Given the description of an element on the screen output the (x, y) to click on. 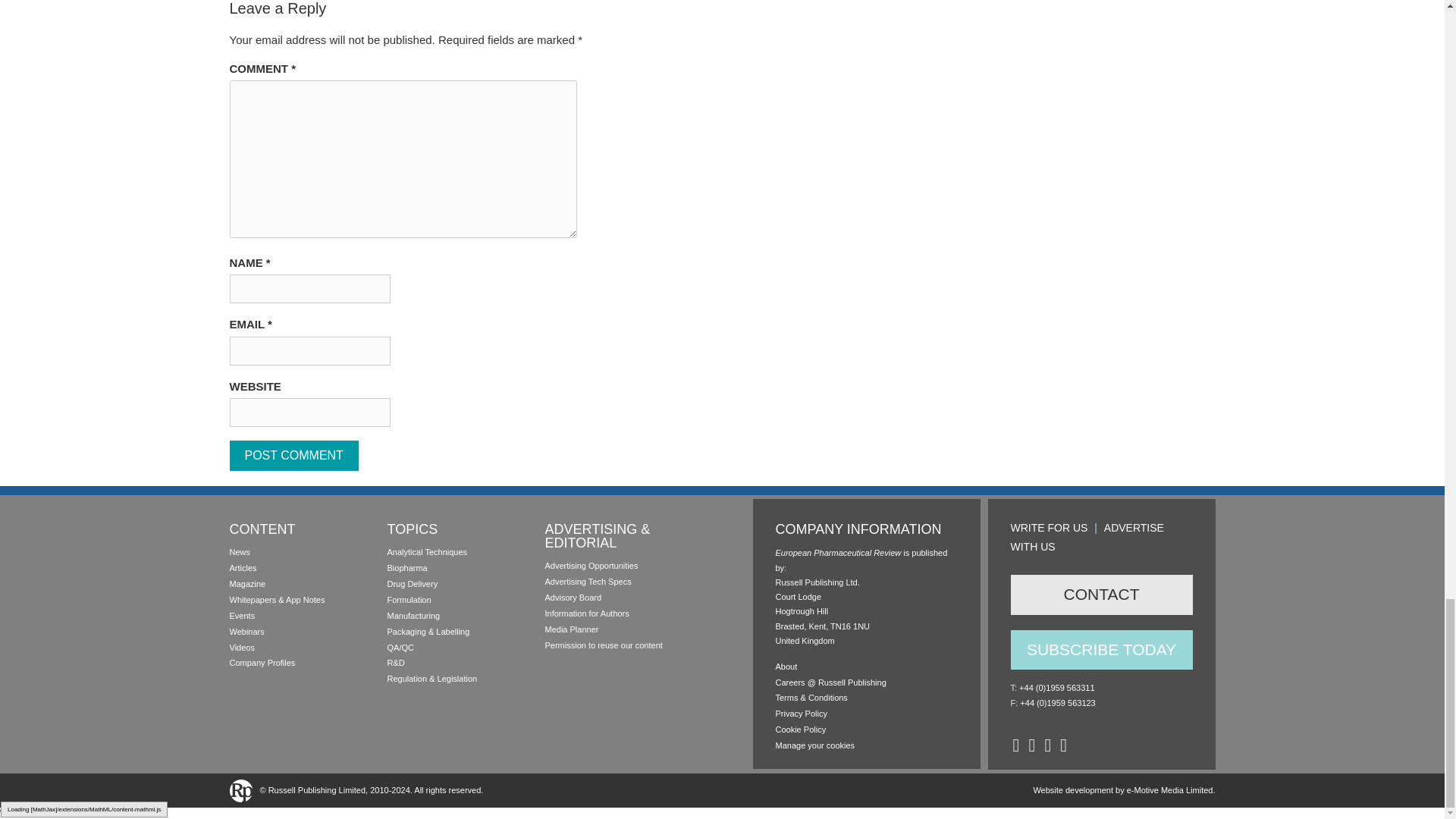
Post Comment (293, 455)
